Given the description of an element on the screen output the (x, y) to click on. 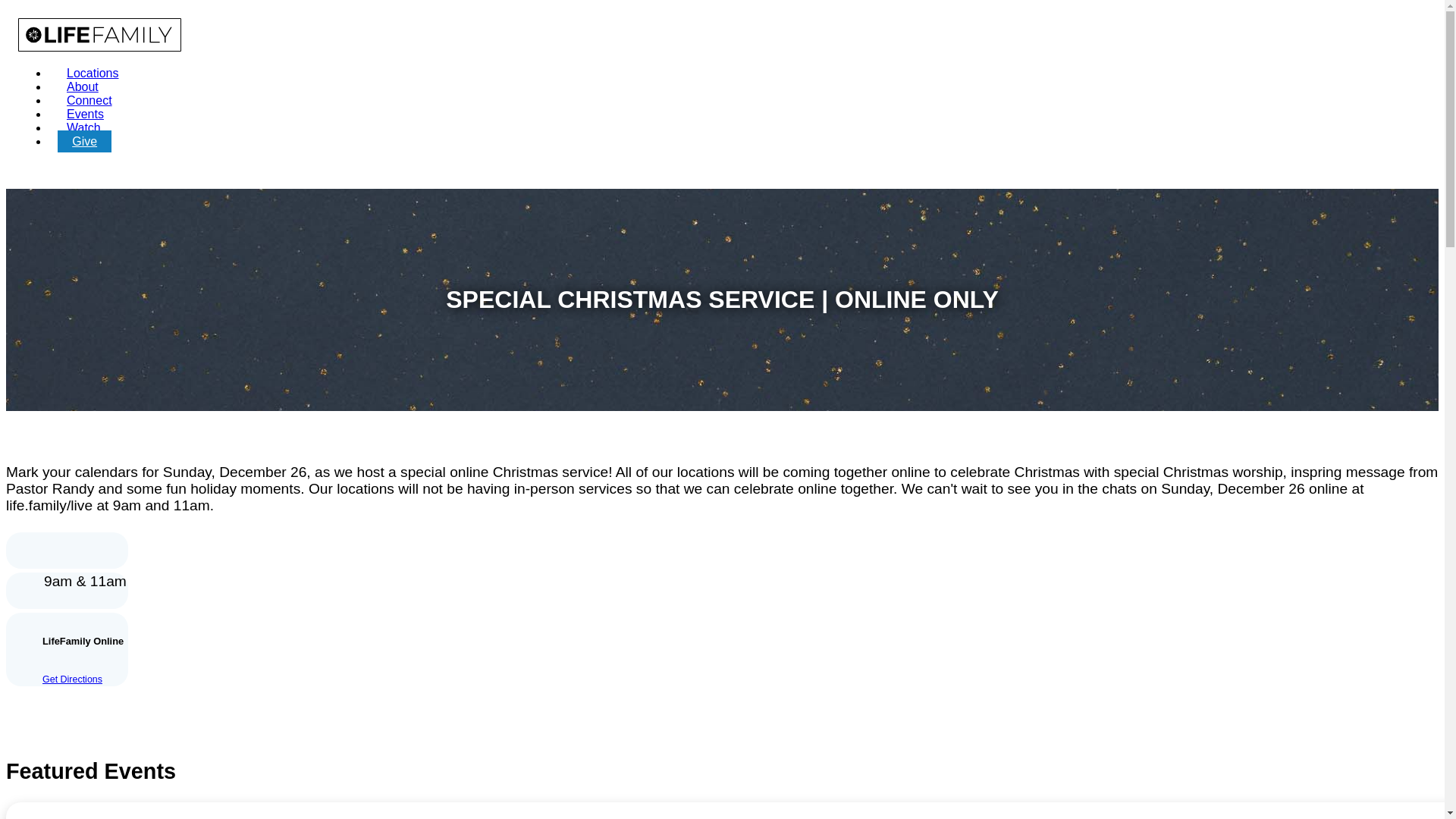
Give (85, 141)
Events (85, 113)
About (82, 86)
Locations (92, 72)
Get Directions (71, 679)
Connect (89, 100)
Watch (83, 127)
